Given the description of an element on the screen output the (x, y) to click on. 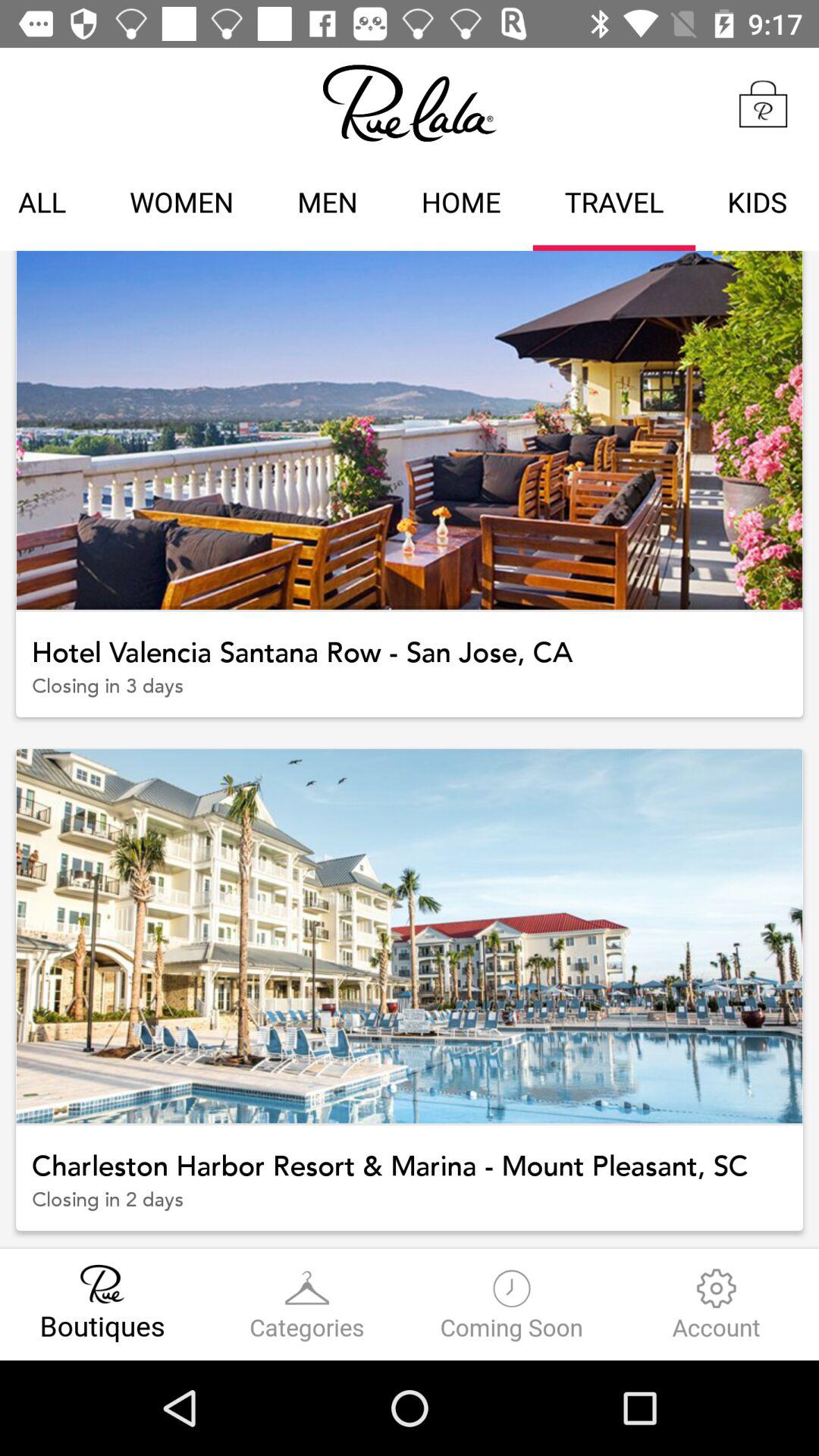
open the icon to the right of all (181, 204)
